Given the description of an element on the screen output the (x, y) to click on. 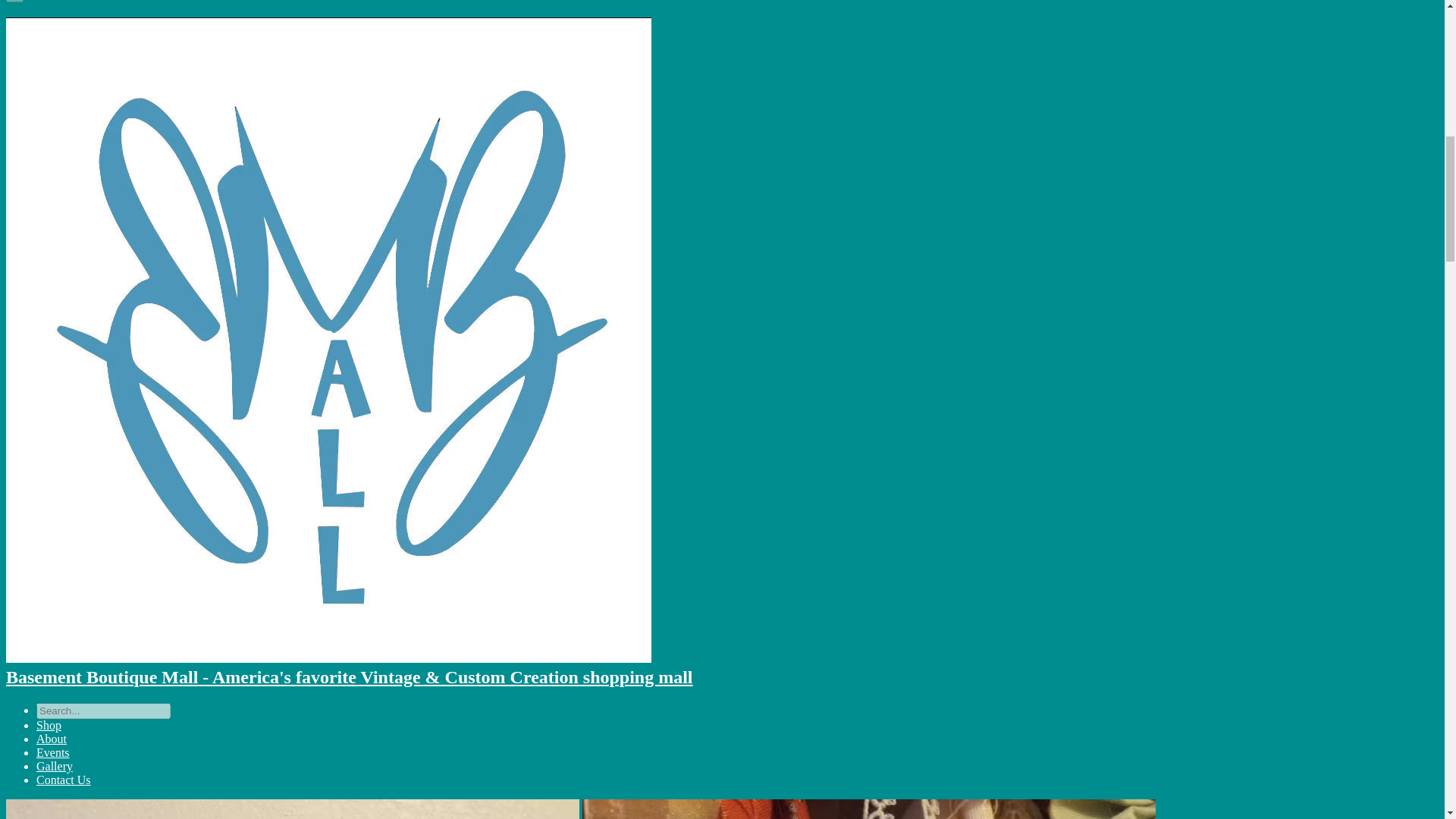
About (51, 738)
0 (14, 1)
Shop (48, 725)
Gallery (54, 766)
Events (52, 752)
Contact Us (63, 779)
